Given the description of an element on the screen output the (x, y) to click on. 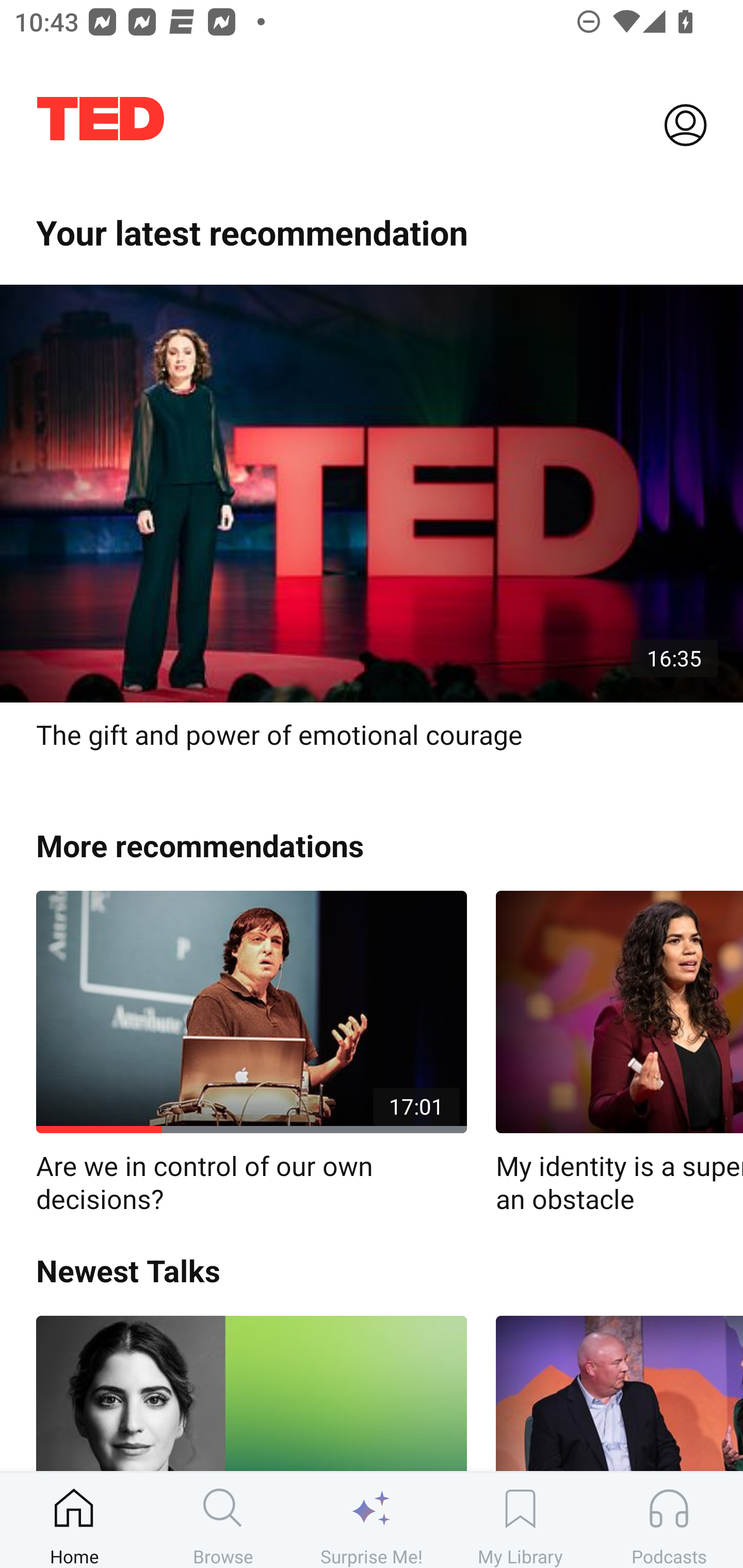
17:01 Are we in control of our own decisions? (251, 1053)
My identity is a superpower -- not an obstacle (619, 1053)
Home (74, 1520)
Browse (222, 1520)
Surprise Me! (371, 1520)
My Library (519, 1520)
Podcasts (668, 1520)
